Given the description of an element on the screen output the (x, y) to click on. 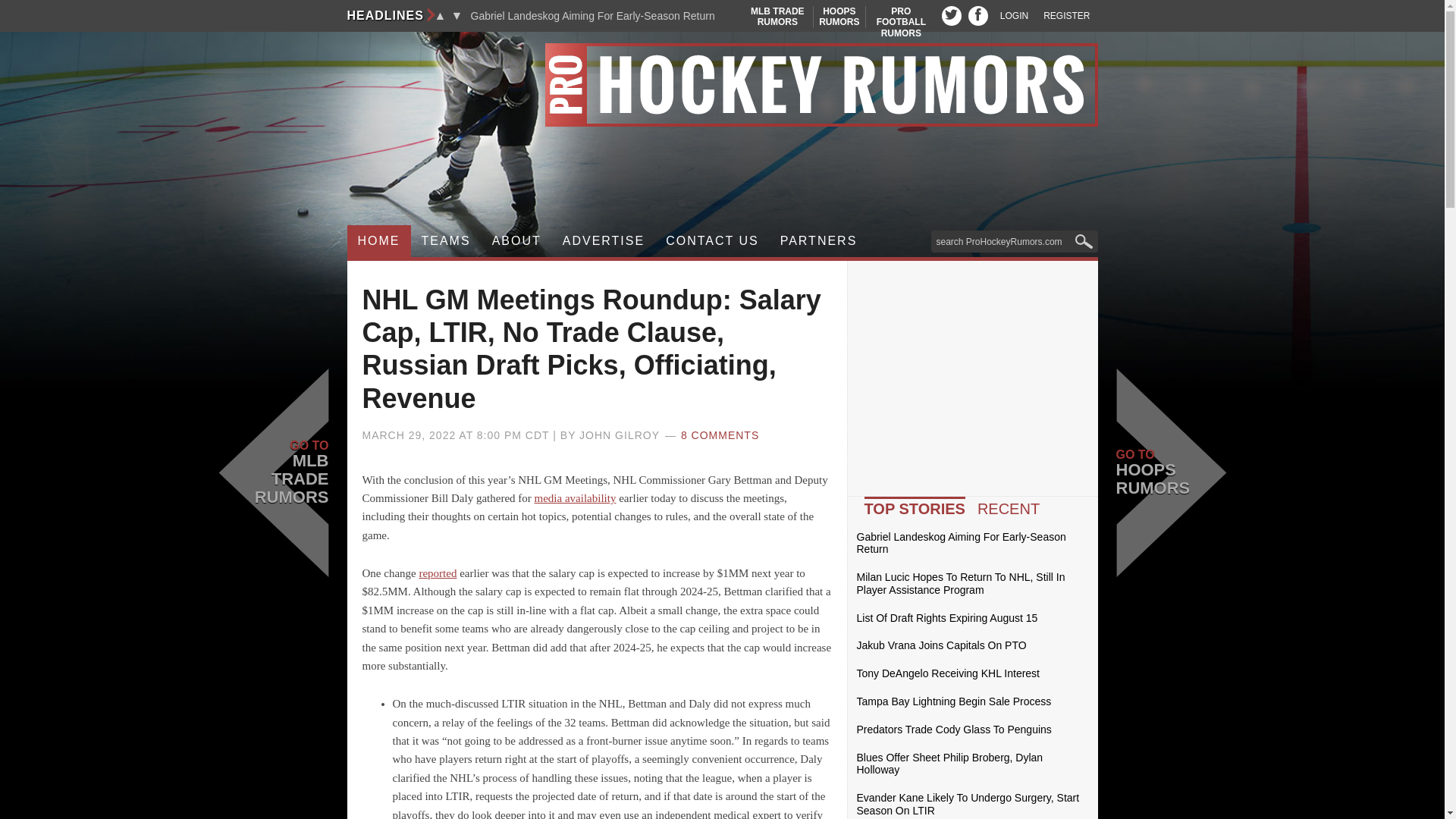
TEAMS (445, 241)
FB profile (978, 15)
Gabriel Landeskog Aiming For Early-Season Return (592, 15)
LOGIN (1013, 15)
Twitter profile (838, 16)
Previous (951, 15)
Pro Hockey Rumors (439, 15)
Search (722, 84)
